Given the description of an element on the screen output the (x, y) to click on. 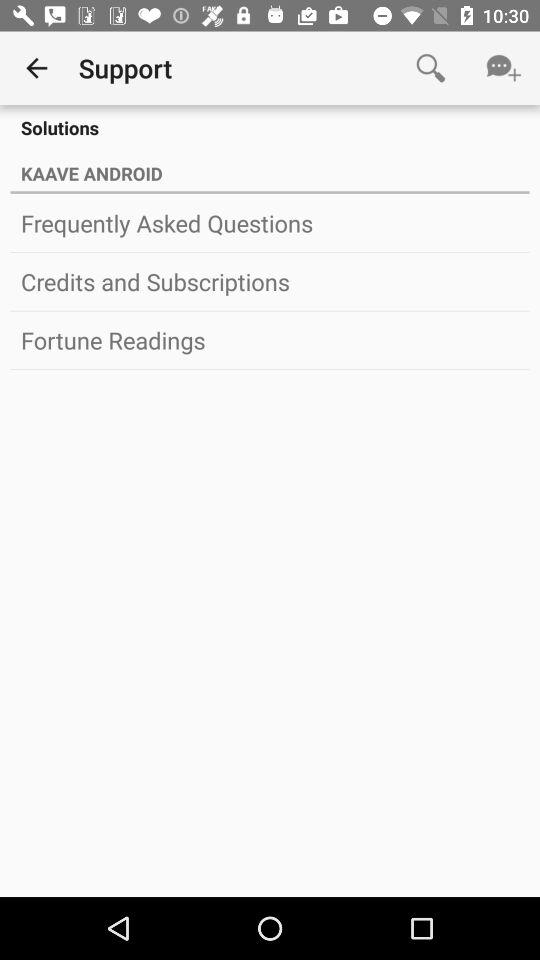
flip to the credits and subscriptions (269, 281)
